Given the description of an element on the screen output the (x, y) to click on. 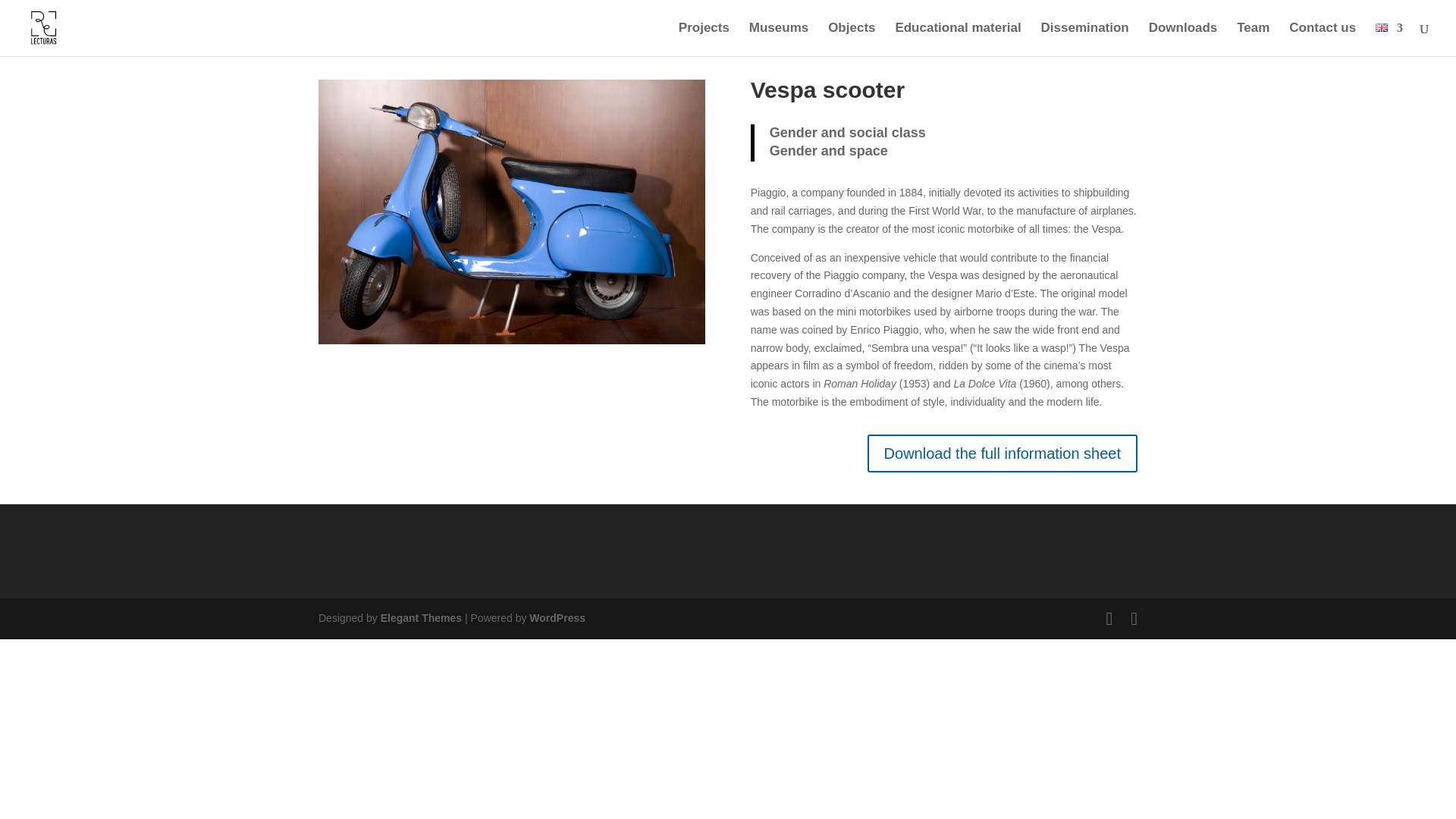
WordPress (557, 617)
Dissemination (1085, 39)
Museums (778, 39)
Downloads (1182, 39)
Educational material (957, 39)
Team (1252, 39)
Elegant Themes (420, 617)
Objects (851, 39)
English (1381, 27)
Premium WordPress Themes (420, 617)
Download the full information sheet (1002, 453)
Projects (703, 39)
Contact us (1321, 39)
